Given the description of an element on the screen output the (x, y) to click on. 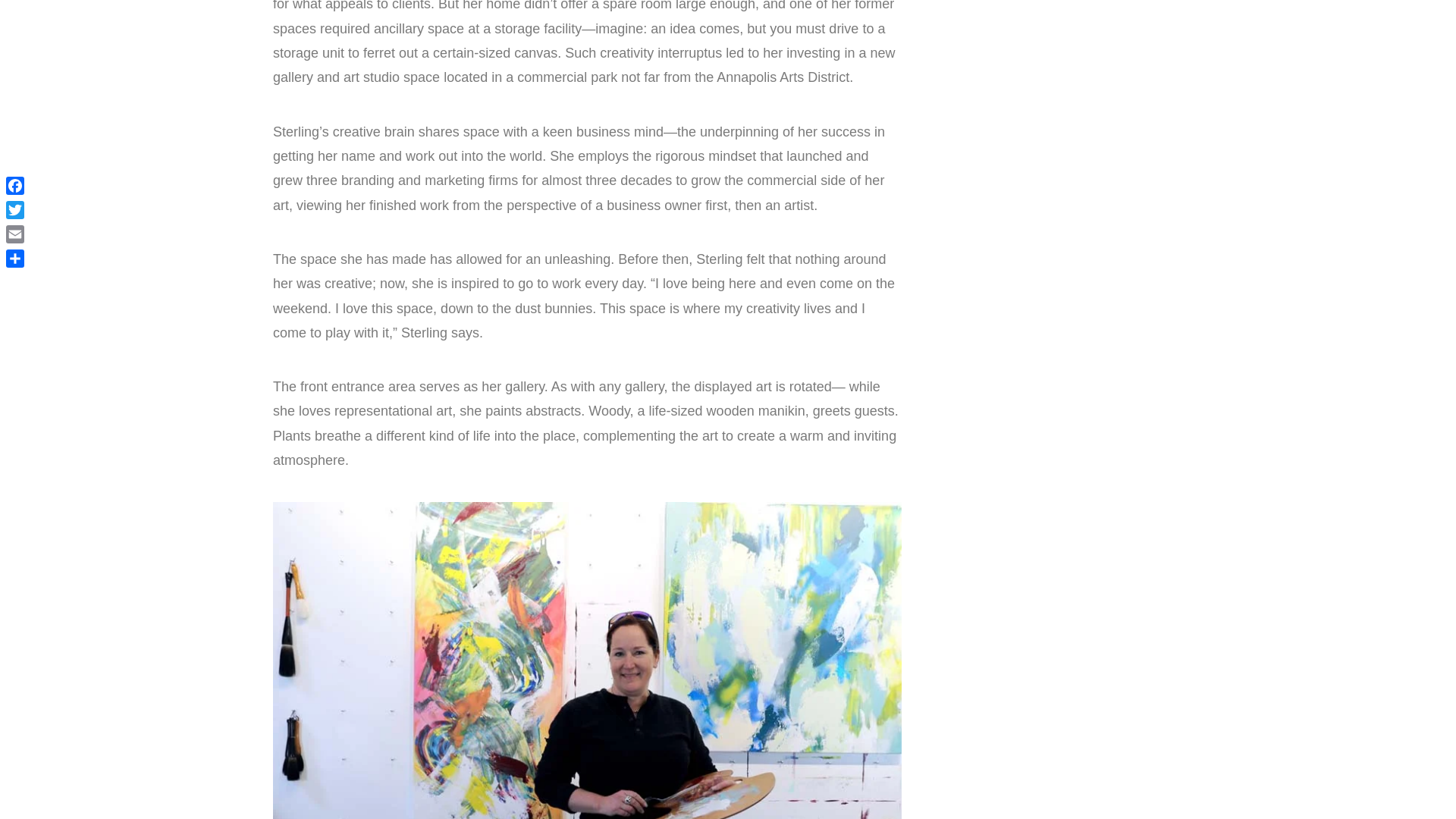
Advertisement (1068, 47)
